Given the description of an element on the screen output the (x, y) to click on. 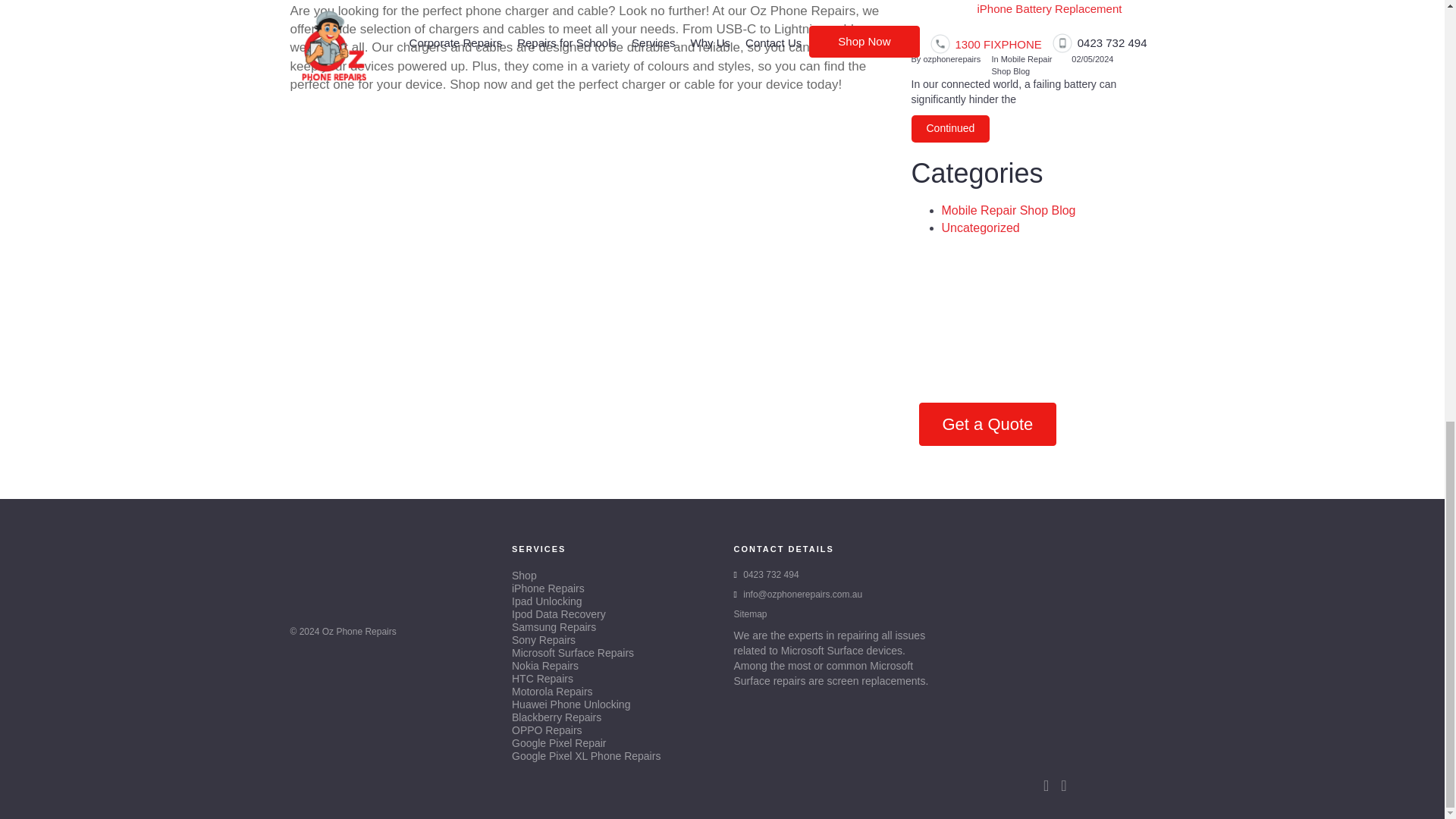
Continued (950, 128)
Oz Phone Repairs (358, 631)
The Importance of a Quality iPhone Battery Replacement (1032, 27)
Mobile Repair Shop Blog (1008, 210)
Get a Quote (987, 423)
Uncategorized (981, 227)
